Given the description of an element on the screen output the (x, y) to click on. 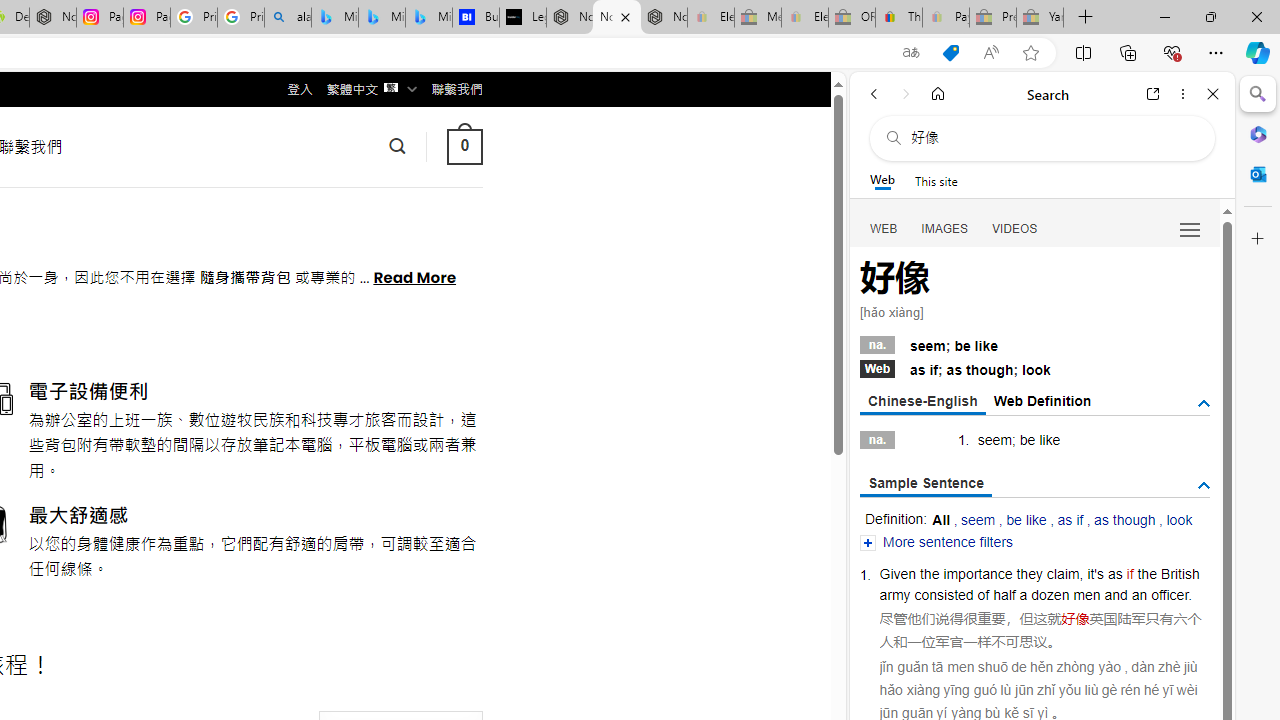
dozen (1050, 594)
Read More (414, 276)
Microsoft Bing Travel - Shangri-La Hotel Bangkok (428, 17)
's (1098, 573)
Search the web (1051, 137)
Search Filter, IMAGES (944, 228)
